Given the description of an element on the screen output the (x, y) to click on. 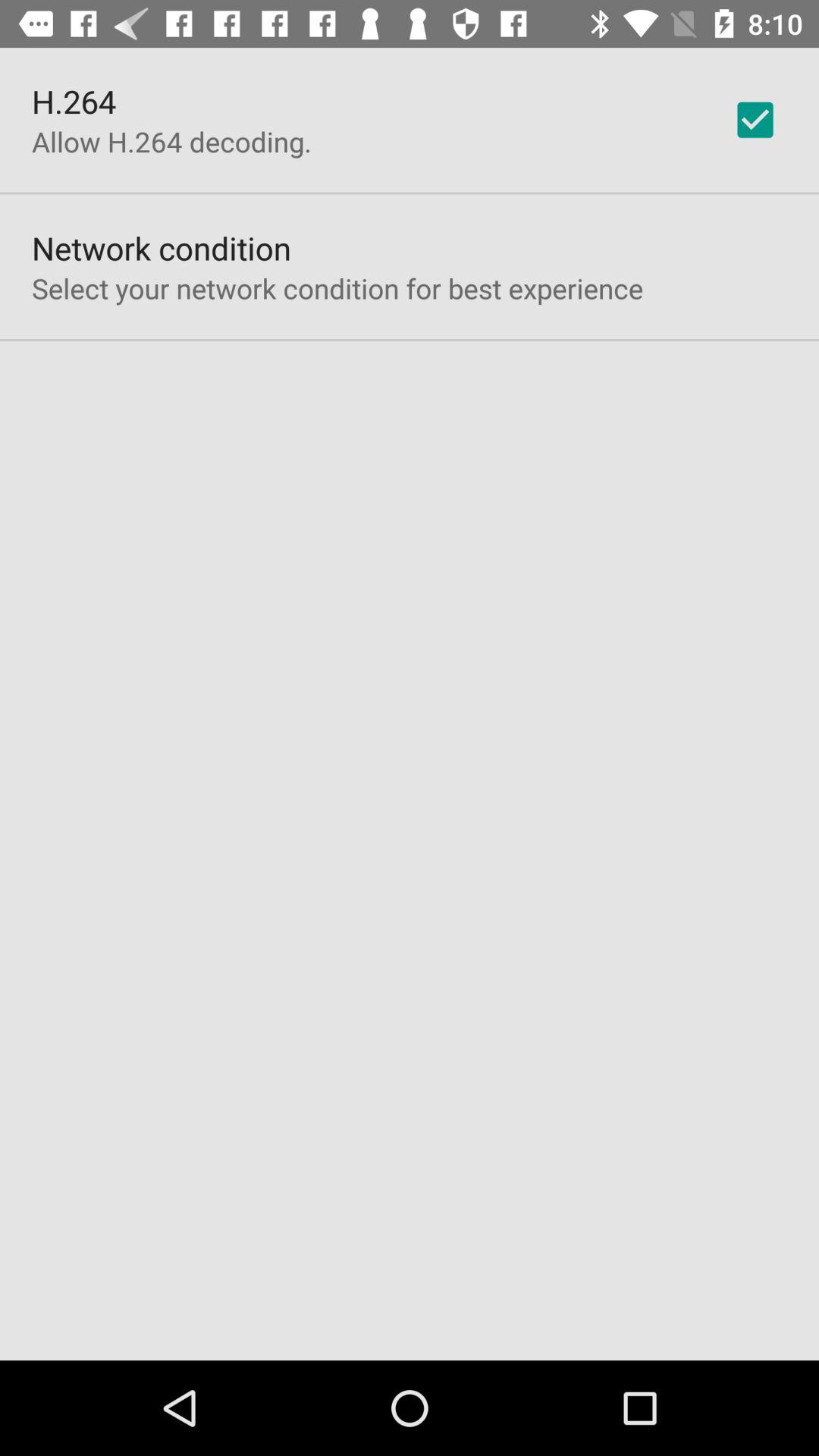
launch select your network app (337, 288)
